Given the description of an element on the screen output the (x, y) to click on. 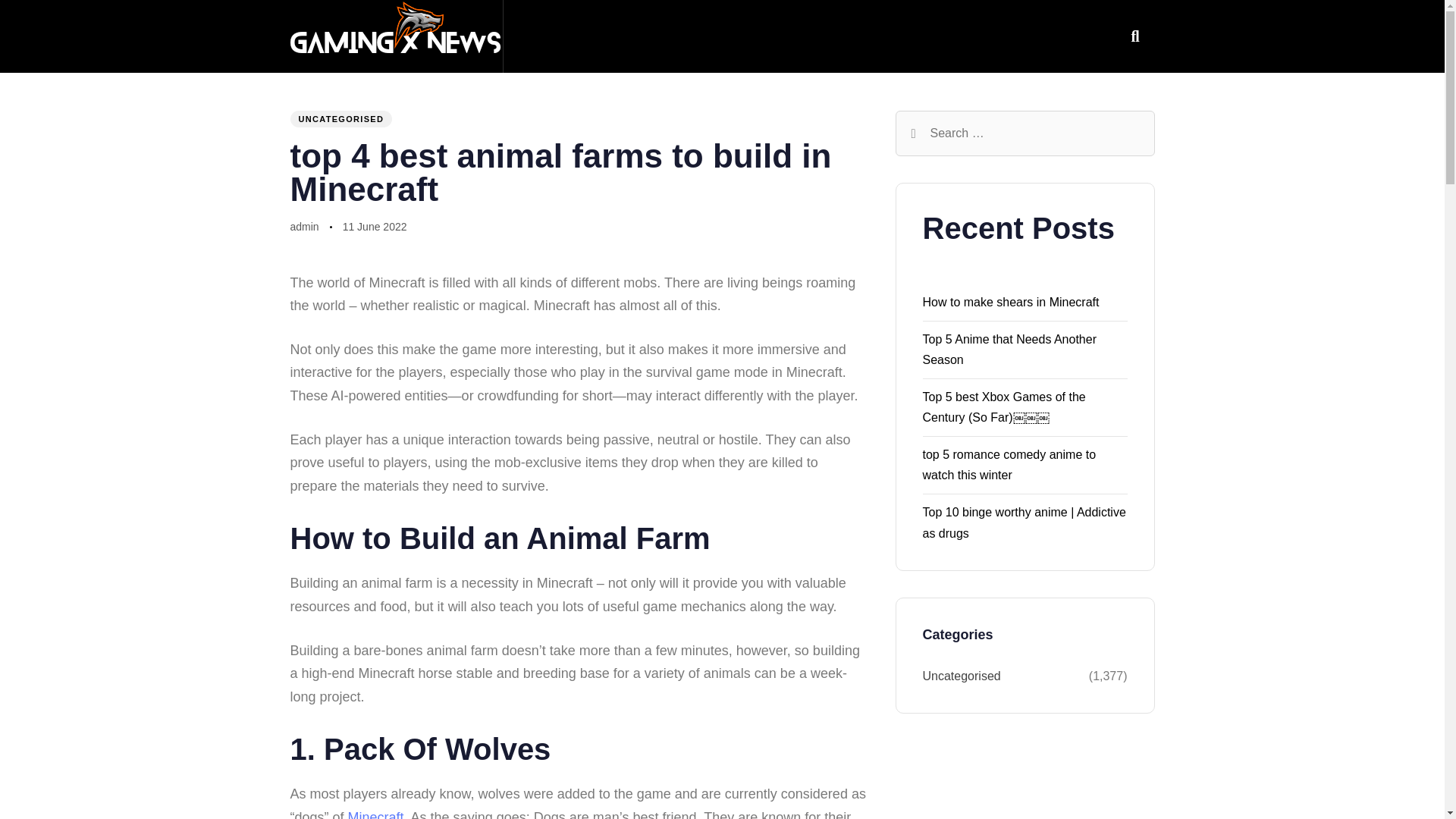
Uncategorised (1004, 675)
Posts by admin (303, 226)
admin (303, 226)
UNCATEGORISED (340, 118)
Minecraft (375, 814)
How to make shears in Minecraft (1010, 301)
Top 5 Anime that Needs Another Season (1008, 349)
11 June 2022 (374, 227)
top 5 romance comedy anime to watch this winter (1008, 464)
